Given the description of an element on the screen output the (x, y) to click on. 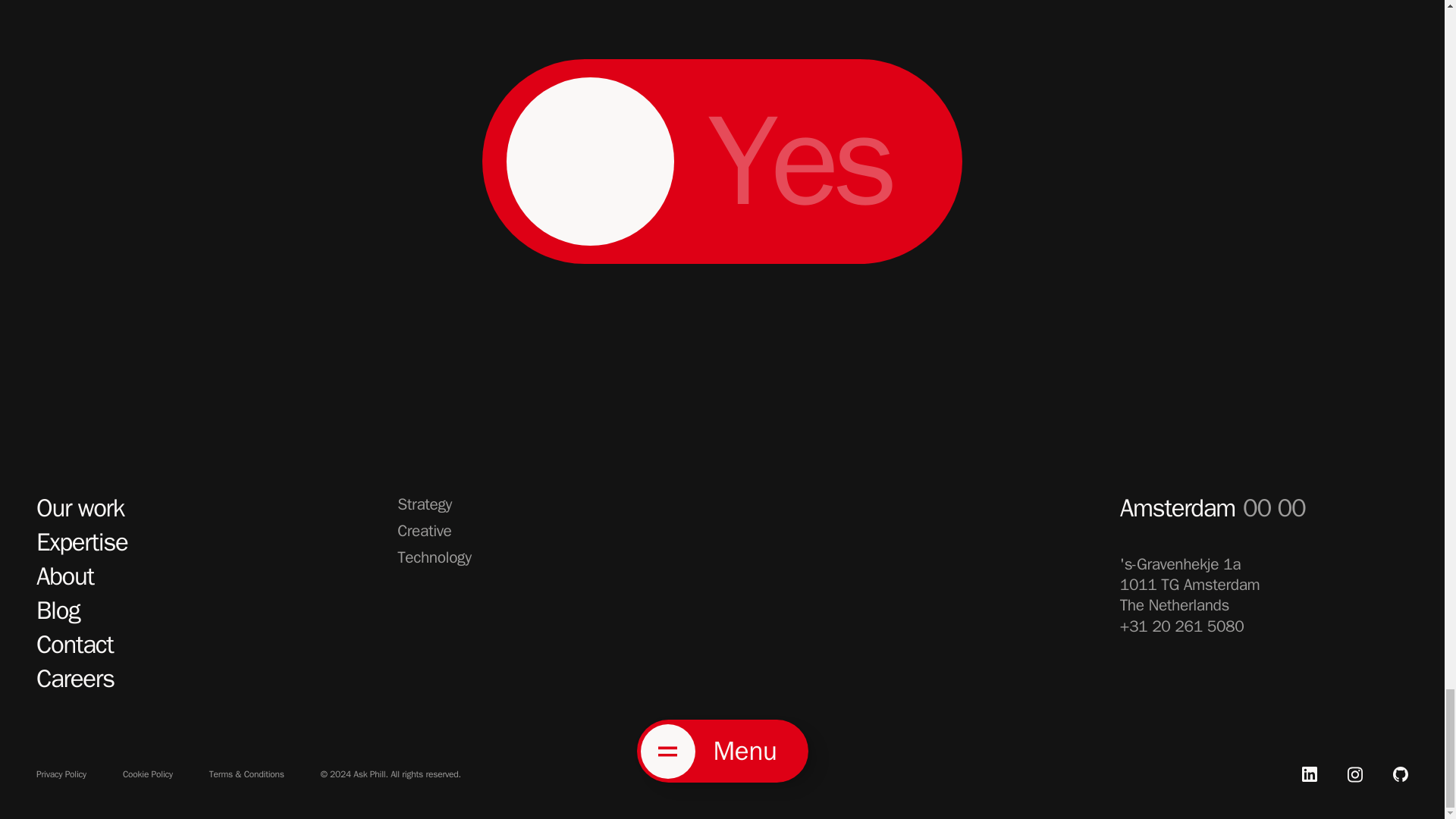
Our work (79, 508)
Blog (58, 610)
Careers (75, 678)
About (65, 576)
Technology (433, 557)
Contact (74, 644)
Expertise (82, 542)
Strategy (424, 504)
Creative (424, 530)
